Given the description of an element on the screen output the (x, y) to click on. 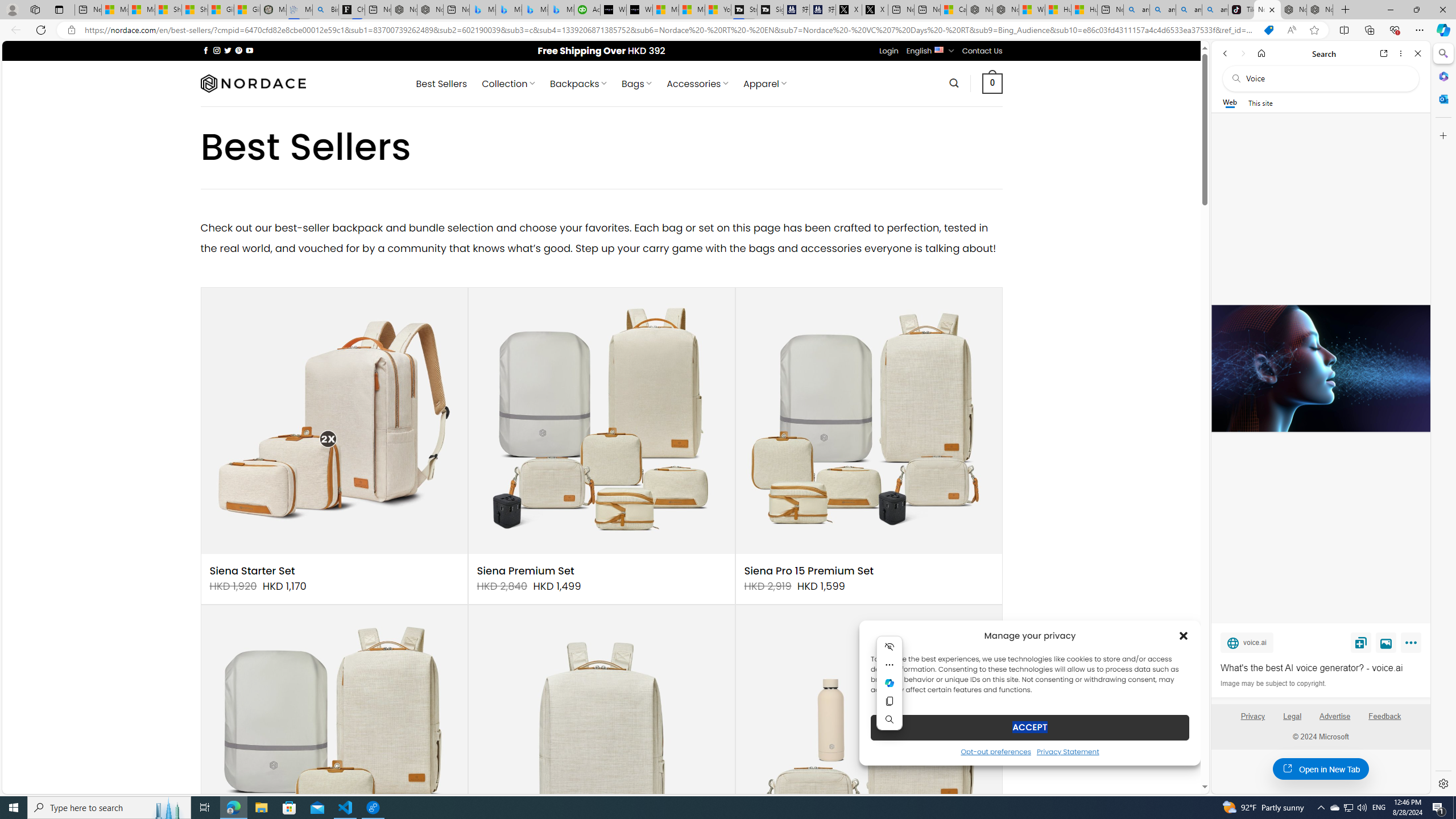
Microsoft Bing Travel - Stays in Bangkok, Bangkok, Thailand (508, 9)
More actions (889, 665)
Search the web (1326, 78)
Mini menu on text selection (889, 682)
Class: cmplz-close (1183, 635)
TikTok (1241, 9)
View image (1385, 642)
amazon - Search Images (1214, 9)
Open in New Tab (1321, 768)
